Given the description of an element on the screen output the (x, y) to click on. 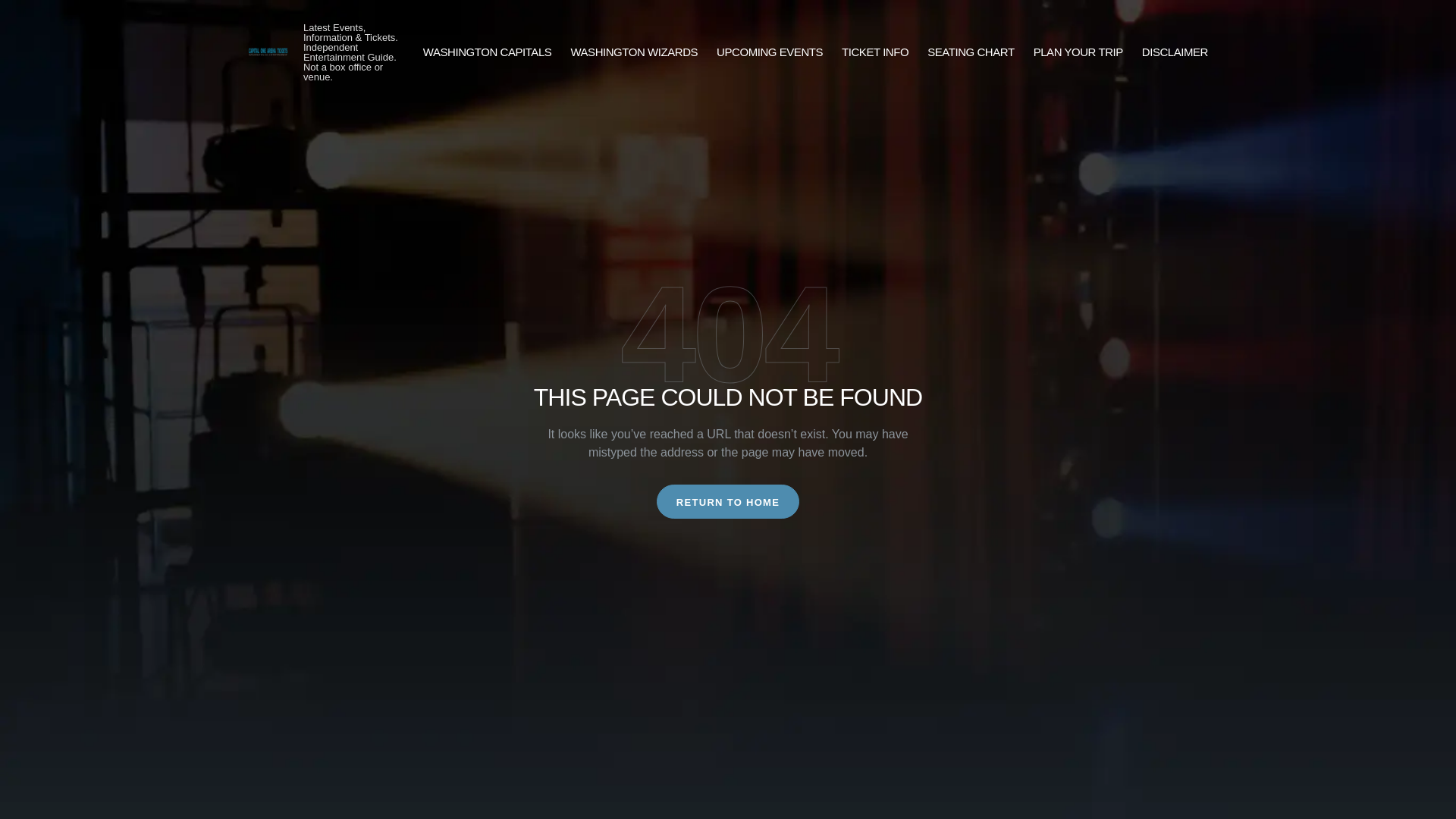
SEATING CHART (970, 52)
UPCOMING EVENTS (769, 52)
RETURN TO HOME (727, 501)
WASHINGTON CAPITALS (487, 52)
PLAN YOUR TRIP (1077, 52)
DISCLAIMER (1174, 52)
TICKET INFO (874, 52)
WASHINGTON WIZARDS (633, 52)
